Given the description of an element on the screen output the (x, y) to click on. 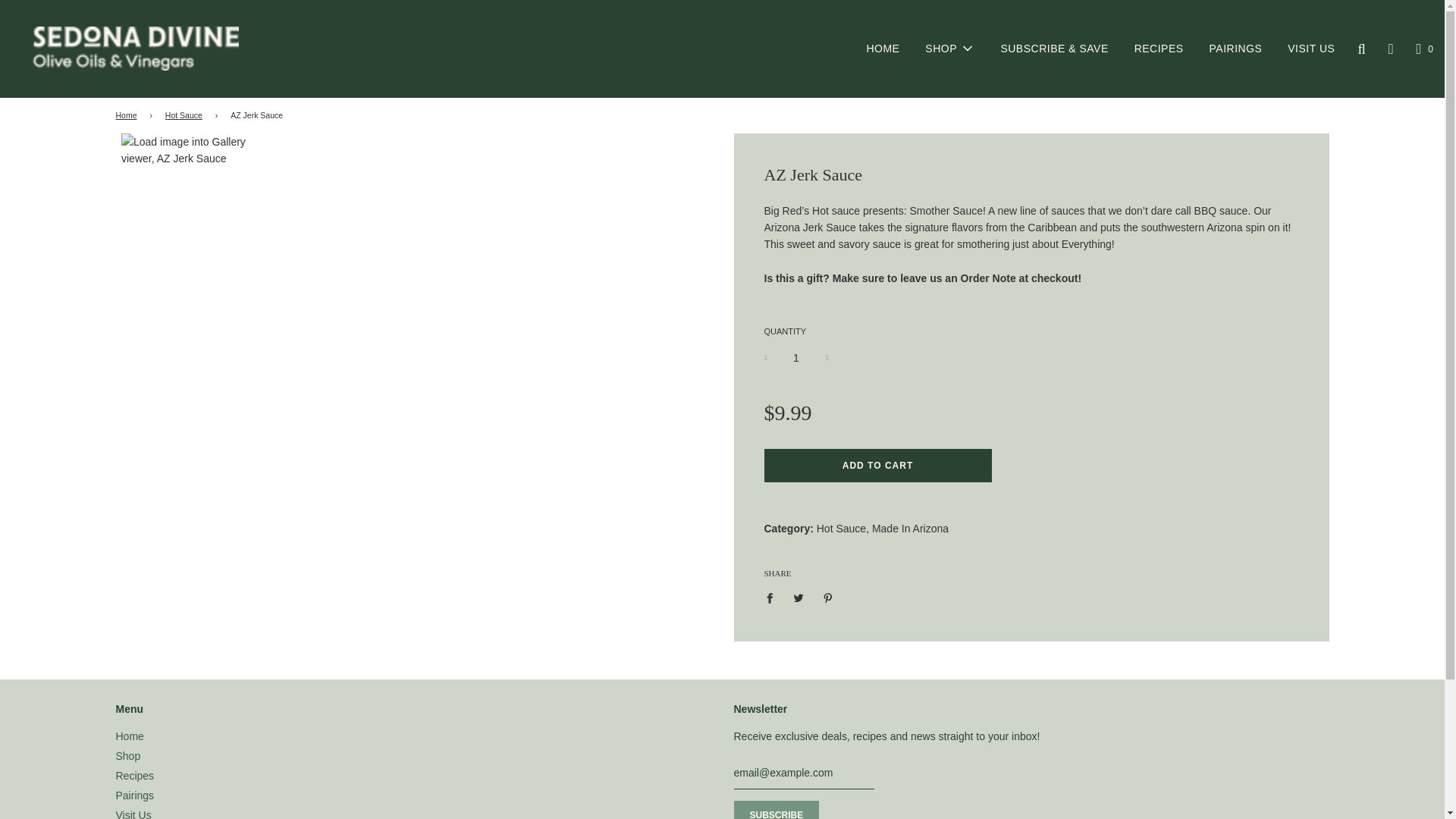
1 (796, 357)
Subscribe (776, 809)
Back to the frontpage (128, 115)
SHOP (949, 47)
HOME (882, 48)
